Given the description of an element on the screen output the (x, y) to click on. 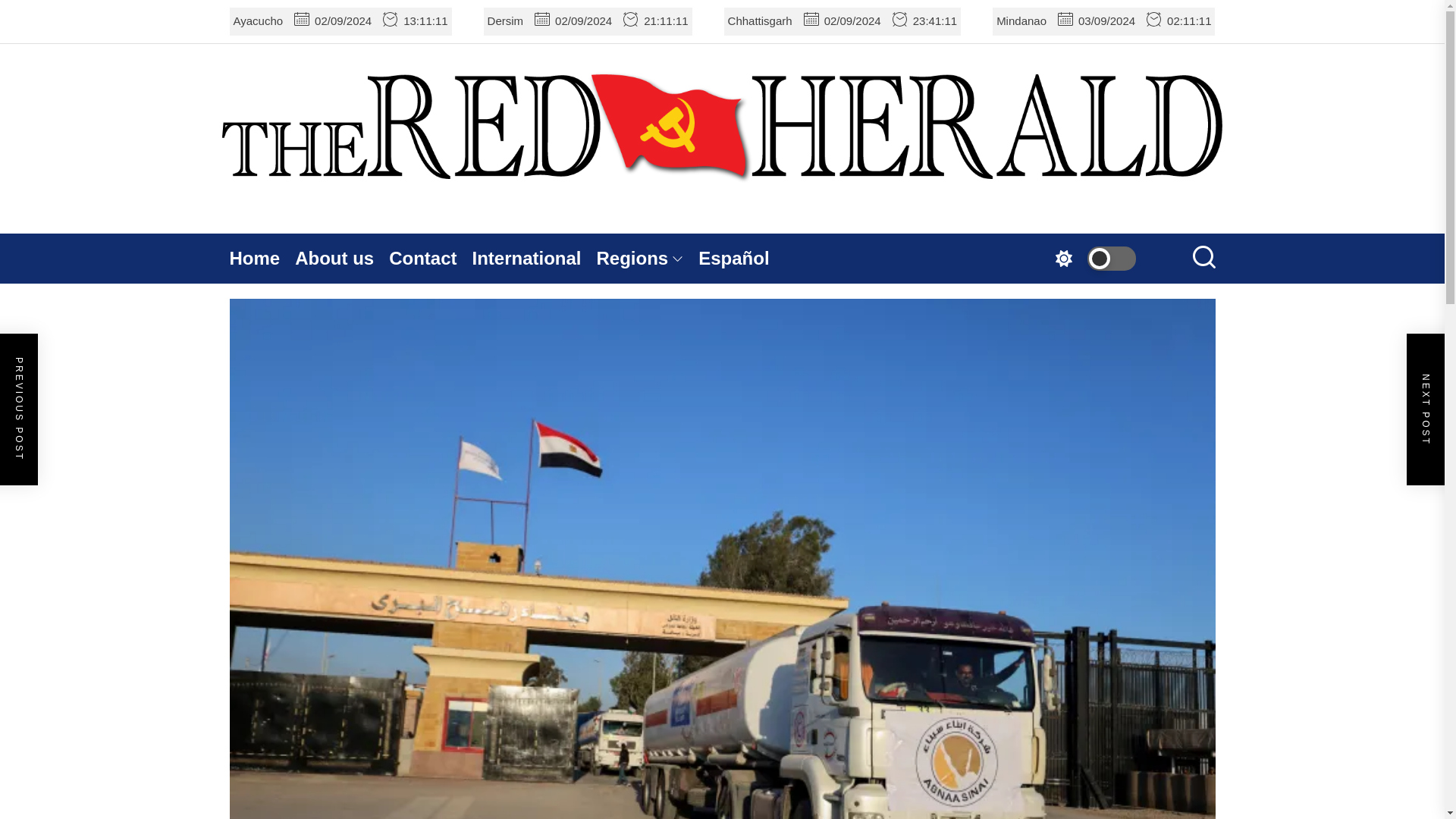
About us (341, 258)
Contact (429, 258)
International (533, 258)
Regions (647, 258)
Home (261, 258)
